Given the description of an element on the screen output the (x, y) to click on. 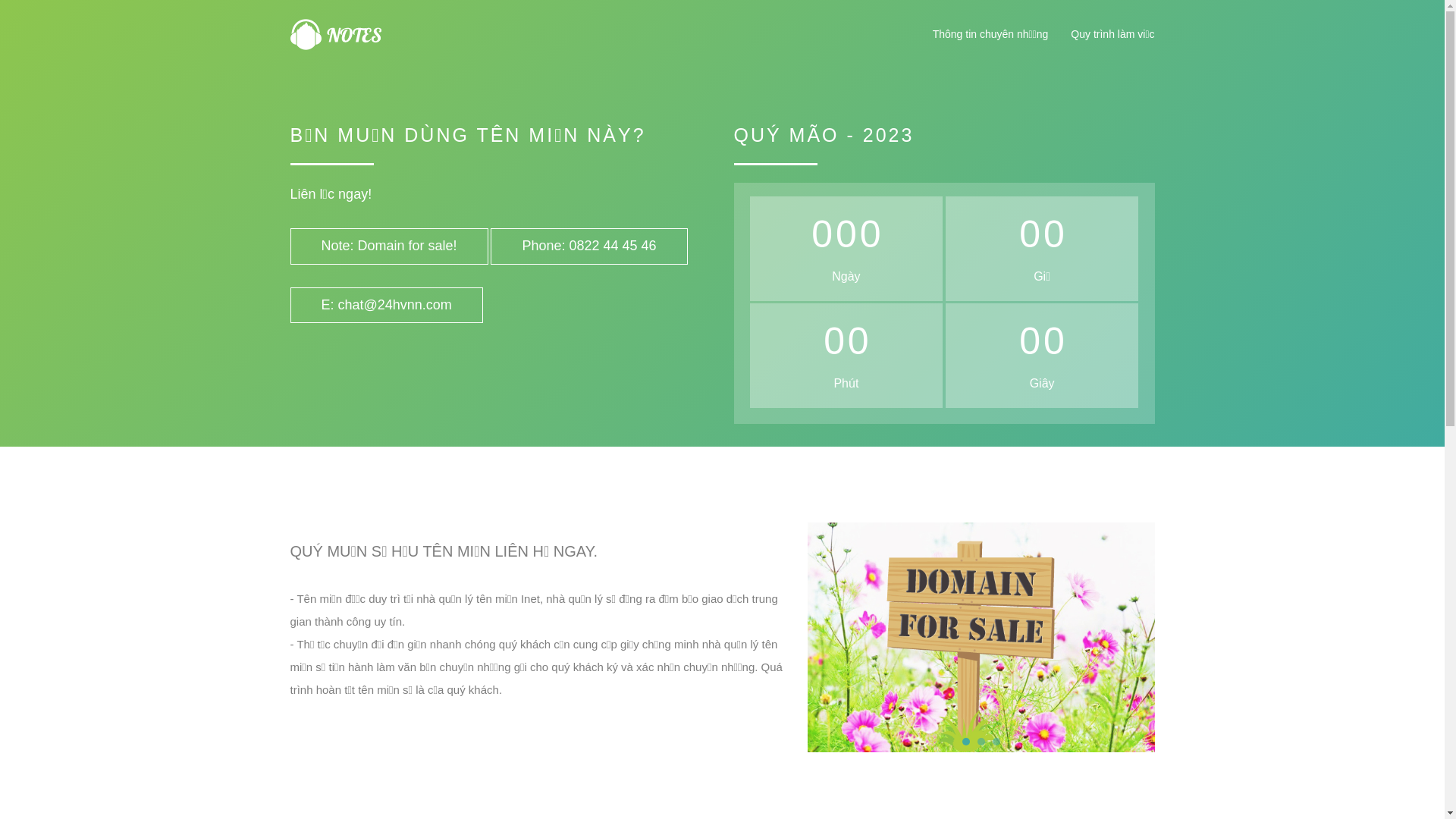
Phone: 0822 44 45 46 Element type: text (588, 246)
E: chat@24hvnn.com Element type: text (385, 305)
Note: Domain for sale! Element type: text (388, 246)
